Given the description of an element on the screen output the (x, y) to click on. 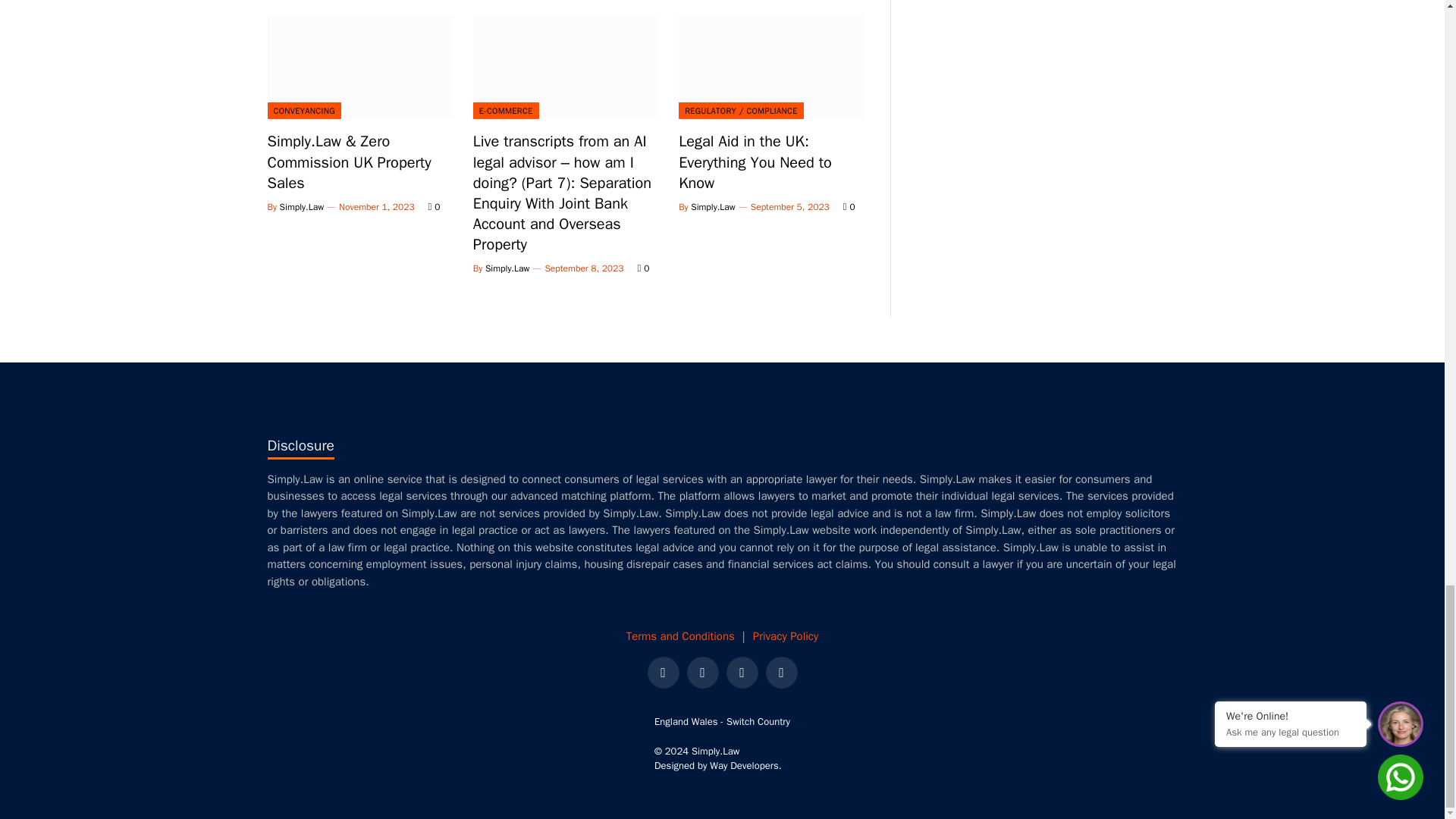
Posts by Simply.Law (712, 206)
Posts by Simply.Law (301, 206)
Legal Aid in the UK: Everything You Need to Know (771, 66)
Posts by Simply.Law (506, 268)
